Given the description of an element on the screen output the (x, y) to click on. 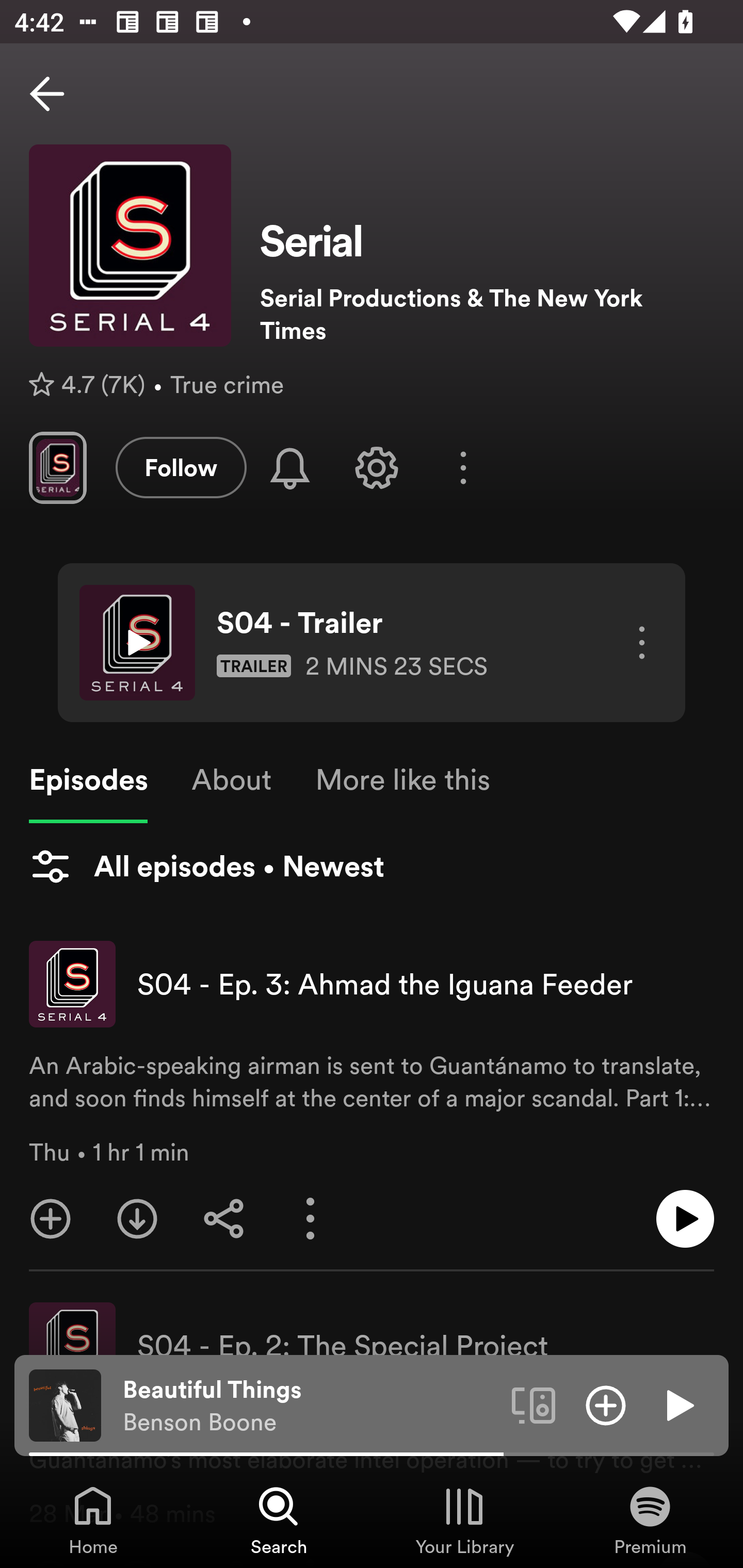
Back (46, 93)
Serial Productions & The New York Times (487, 314)
Follow Follow this show (180, 466)
Settings for this Show. (376, 467)
Enable notifications for new episodes of Serial. (289, 467)
More options for show Serial (462, 467)
More options for episode S04 - Trailer (634, 642)
About (231, 779)
More like this (402, 779)
All episodes • Newest (206, 866)
Share (223, 1219)
Play episode: S04 - Ep. 3: Ahmad the Iguana Feeder (684, 1219)
Beautiful Things Benson Boone (309, 1405)
The cover art of the currently playing track (64, 1404)
Connect to a device. Opens the devices menu (533, 1404)
Add item (605, 1404)
Play (677, 1404)
Home, Tab 1 of 4 Home Home (92, 1519)
Search, Tab 2 of 4 Search Search (278, 1519)
Your Library, Tab 3 of 4 Your Library Your Library (464, 1519)
Premium, Tab 4 of 4 Premium Premium (650, 1519)
